Given the description of an element on the screen output the (x, y) to click on. 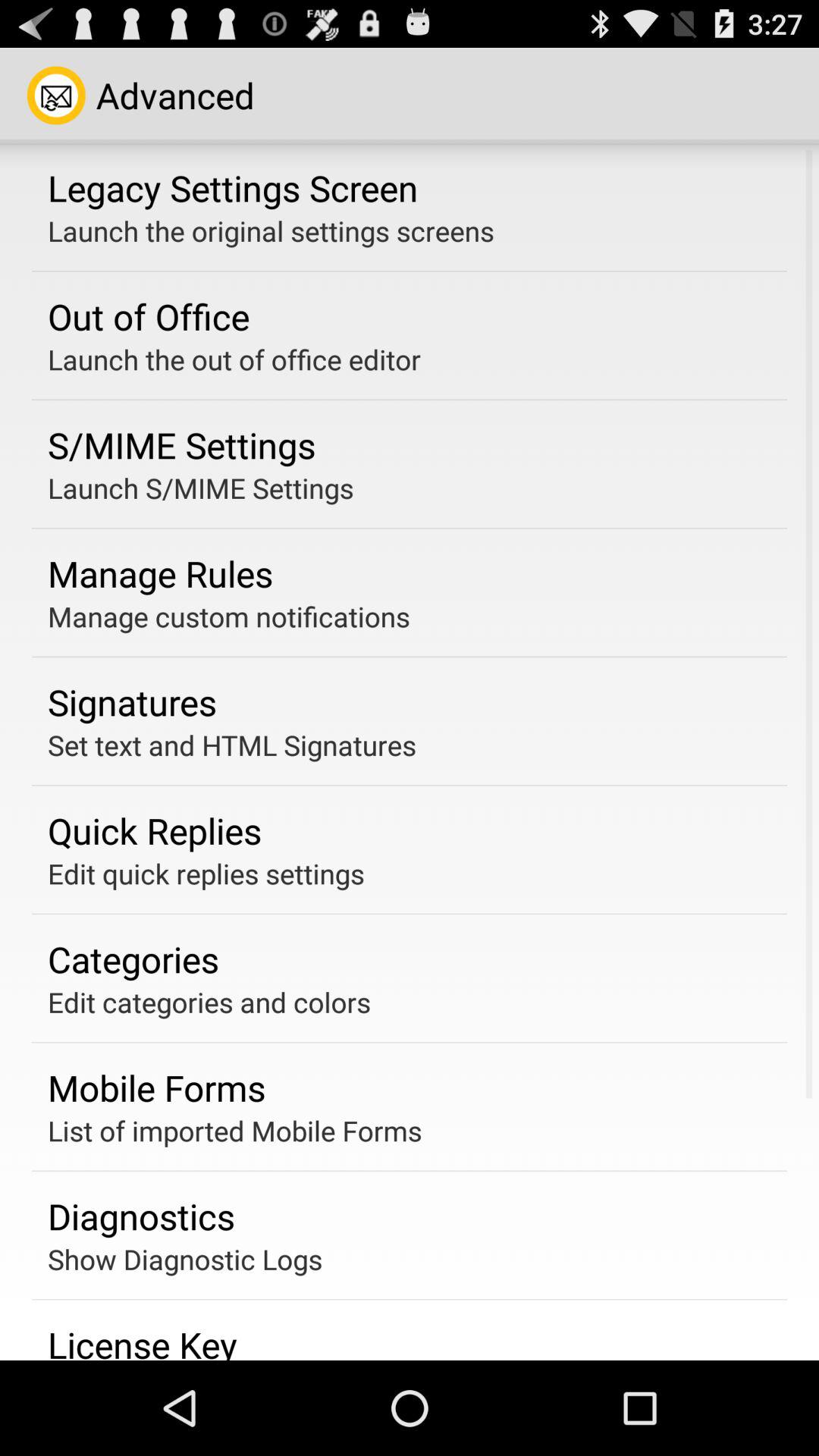
scroll to the manage rules item (160, 573)
